Given the description of an element on the screen output the (x, y) to click on. 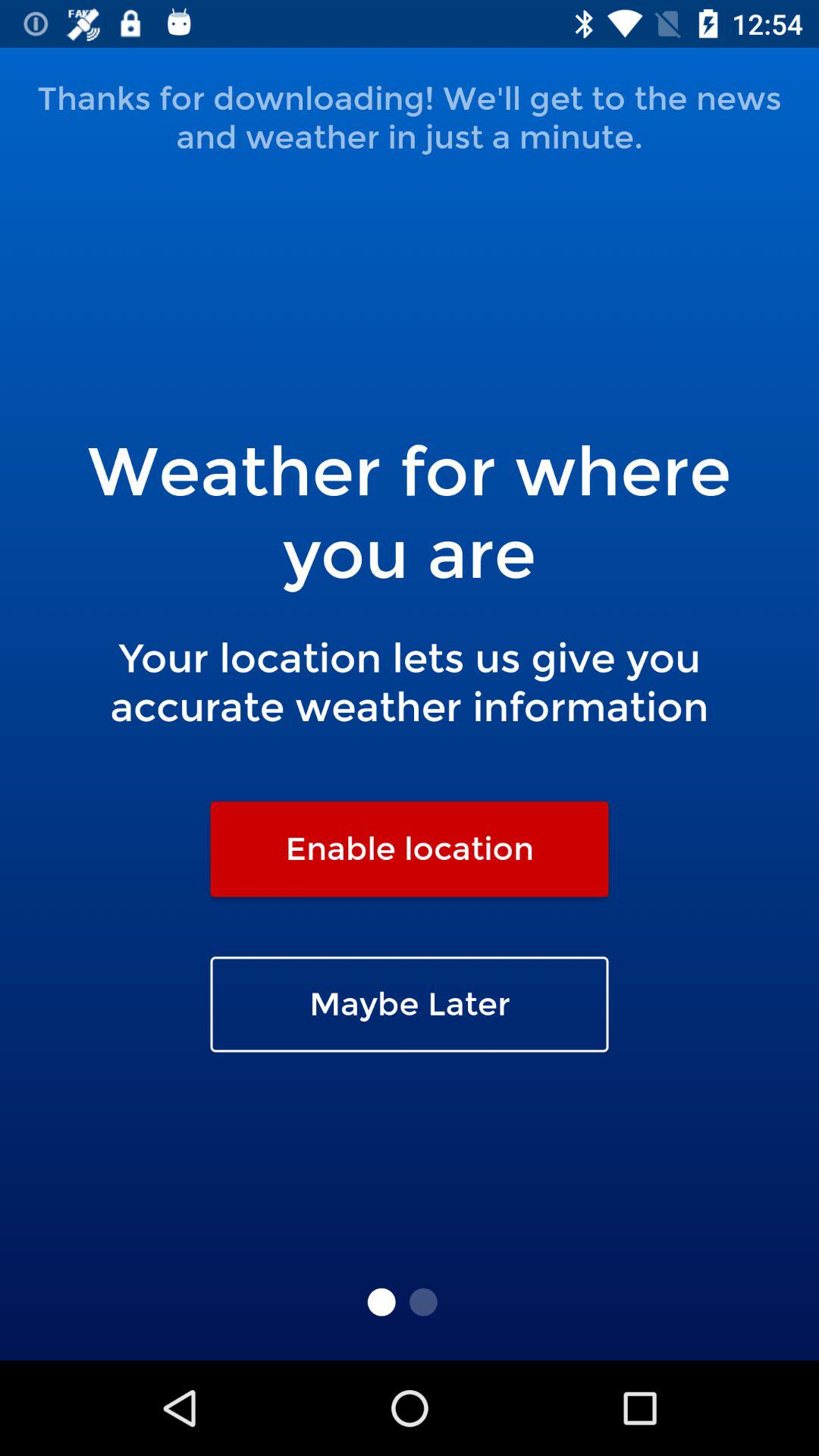
turn off enable location icon (409, 848)
